Given the description of an element on the screen output the (x, y) to click on. 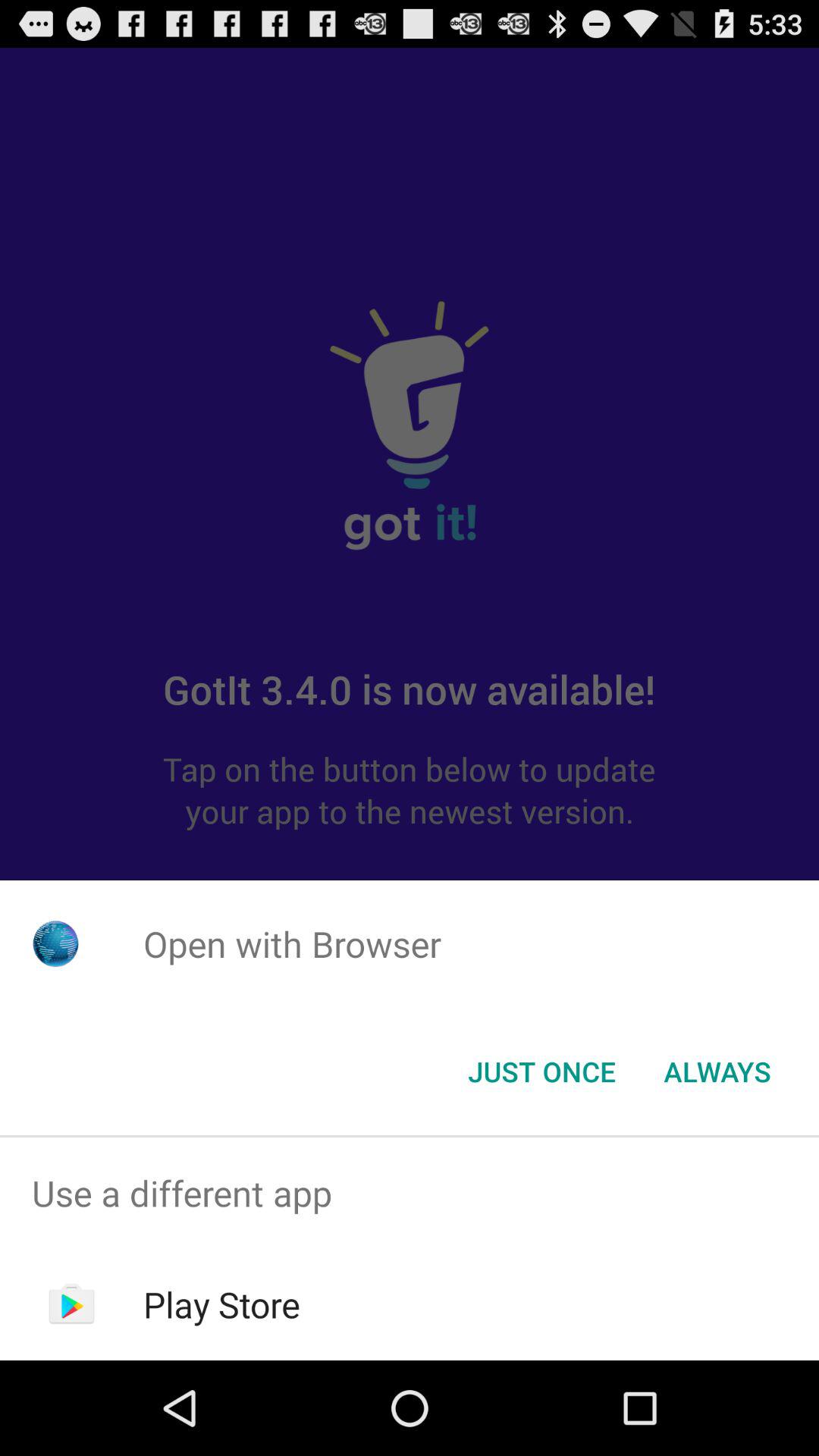
scroll to play store item (221, 1304)
